Given the description of an element on the screen output the (x, y) to click on. 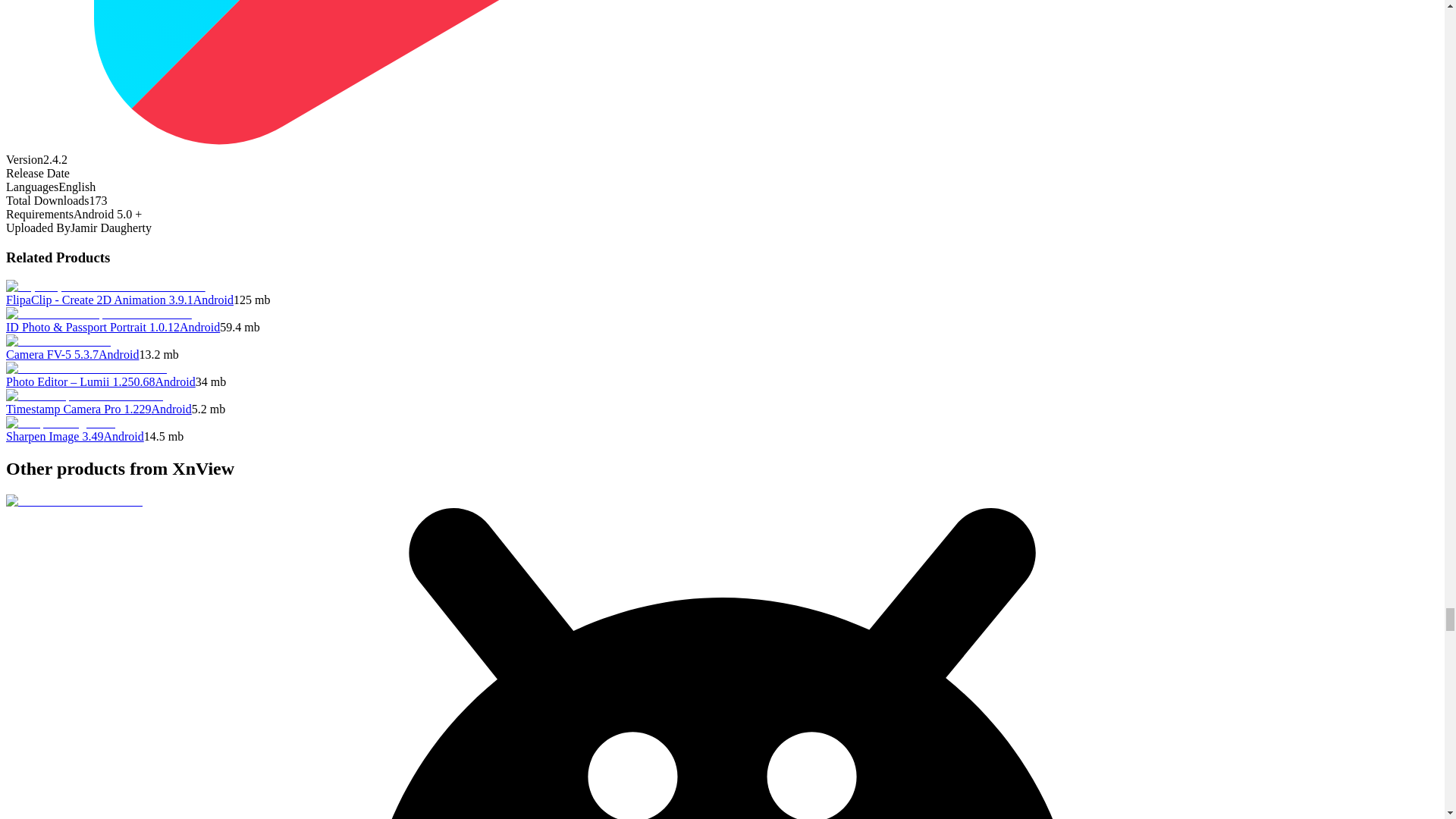
Android (199, 327)
Android (174, 381)
Android (122, 436)
Android (118, 354)
Sharpen Image 3.49 (54, 436)
FlipaClip - Create 2D Animation 3.9.1 (99, 299)
Camera FV-5 5.3.7 (52, 354)
Timestamp Camera Pro 1.229 (78, 408)
Android (212, 299)
Android (170, 408)
